Given the description of an element on the screen output the (x, y) to click on. 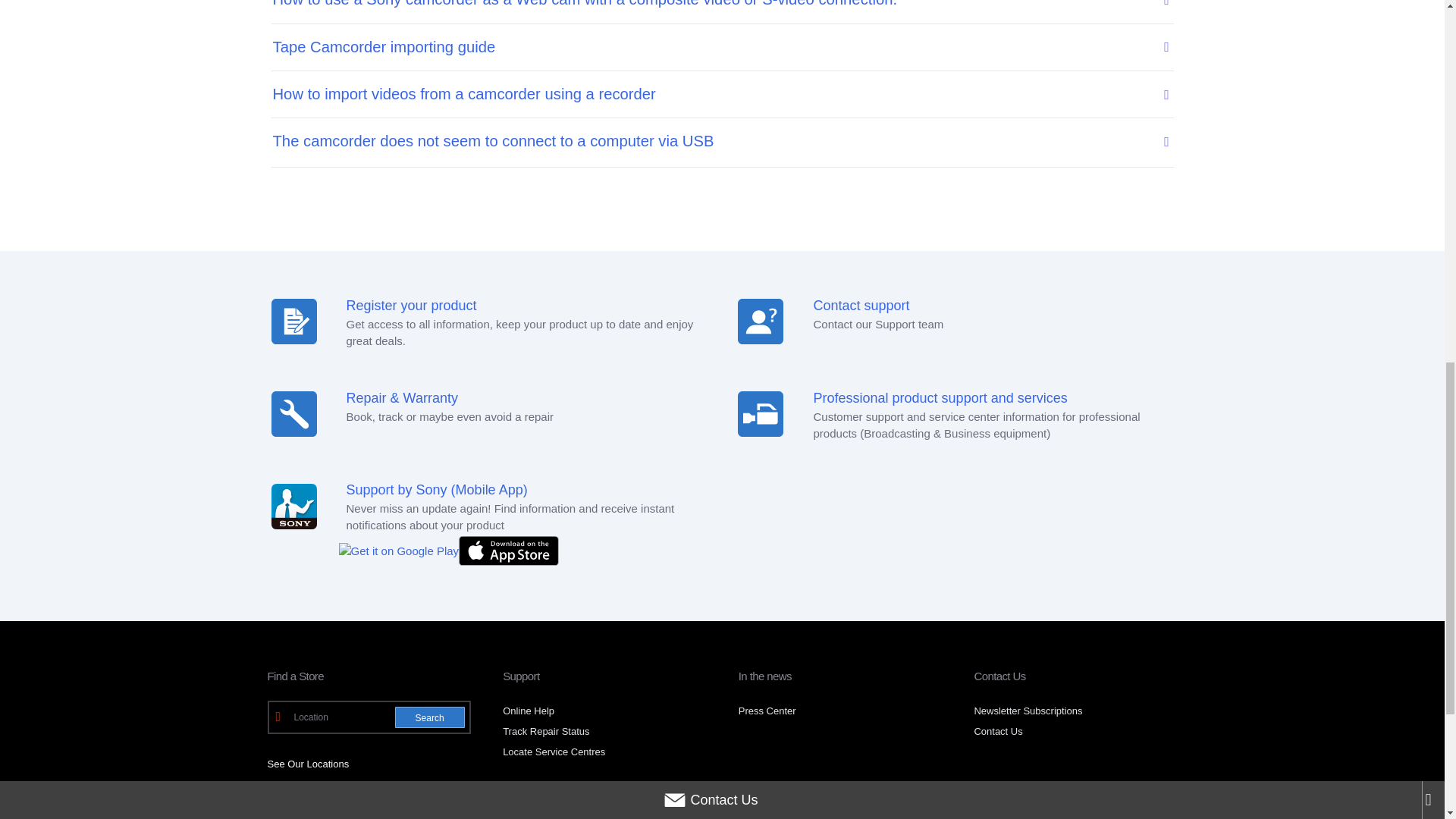
nntnnnttnn (760, 413)
